Given the description of an element on the screen output the (x, y) to click on. 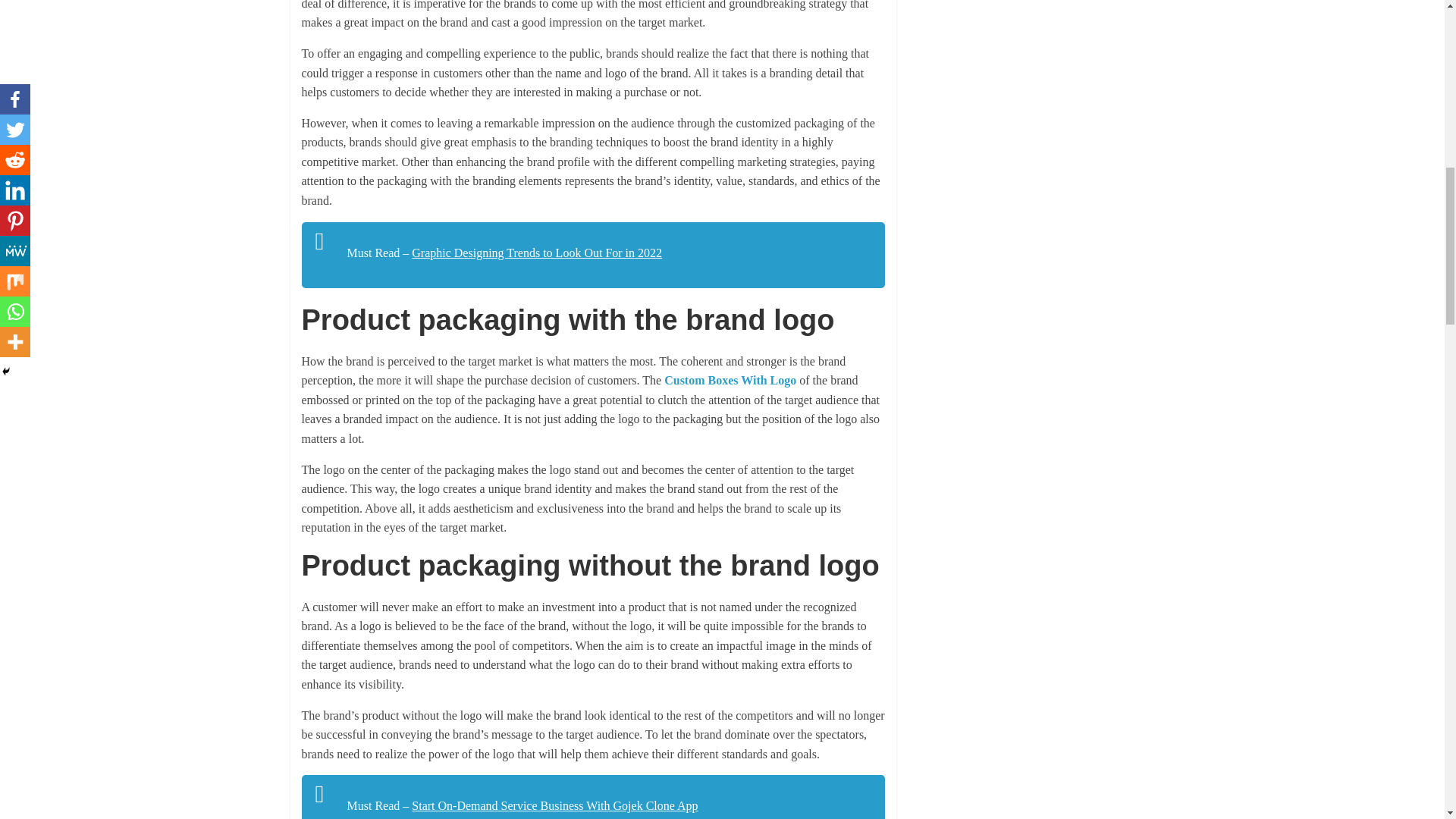
Custom Boxes With Logo (729, 379)
Start On-Demand Service Business With Gojek Clone App (554, 805)
Graphic Designing Trends to Look Out For in 2022 (537, 252)
